Given the description of an element on the screen output the (x, y) to click on. 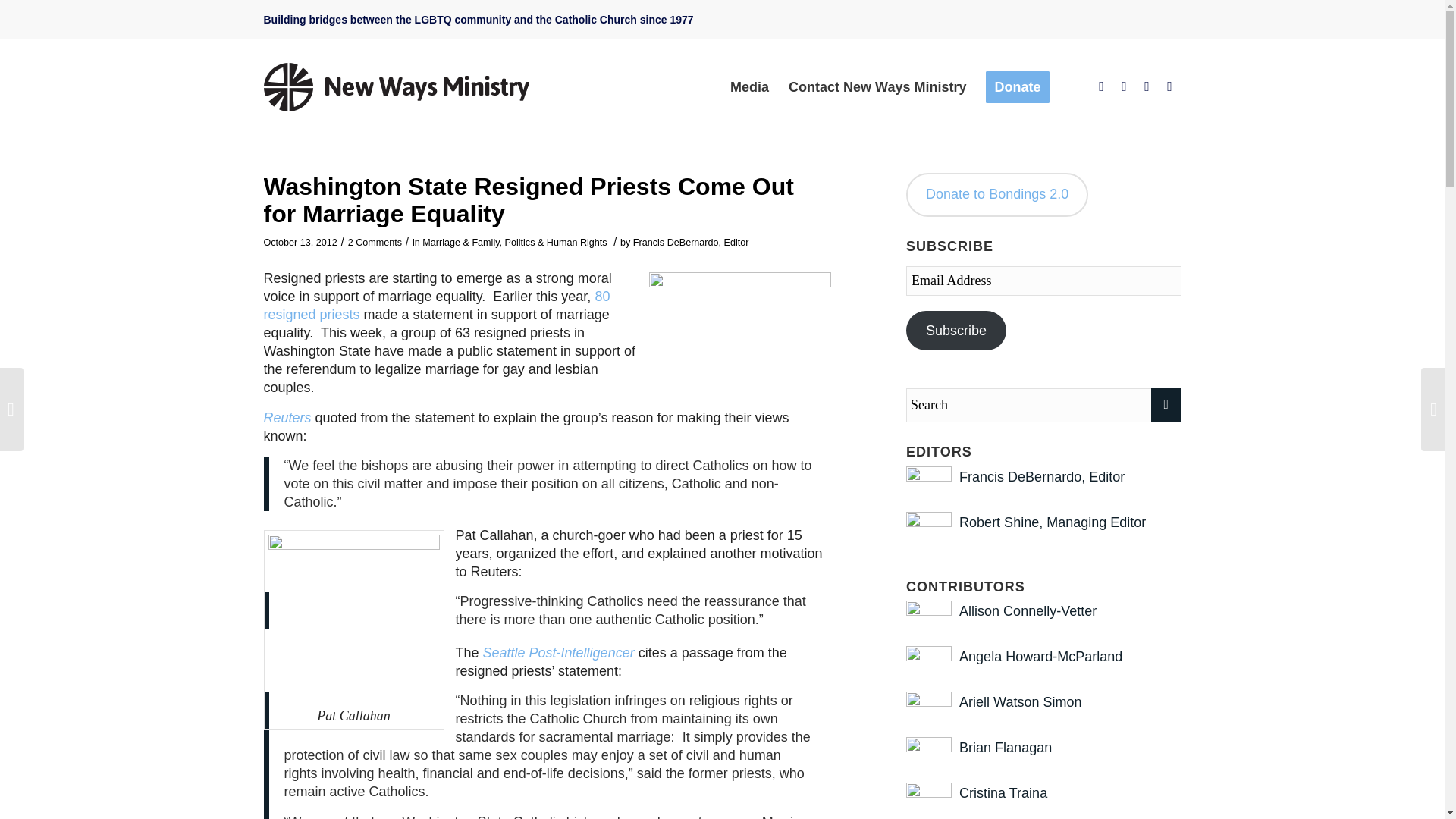
Reuters (287, 417)
Seattle Post-Intelligencer (558, 652)
Twitter (1124, 86)
2 Comments (374, 242)
text of blog post (436, 305)
Posts by Francis DeBernardo, Editor (691, 242)
Facebook (1101, 86)
Pat Callahan (352, 617)
priest's collar clip art (740, 318)
80 resigned priests (436, 305)
